Given the description of an element on the screen output the (x, y) to click on. 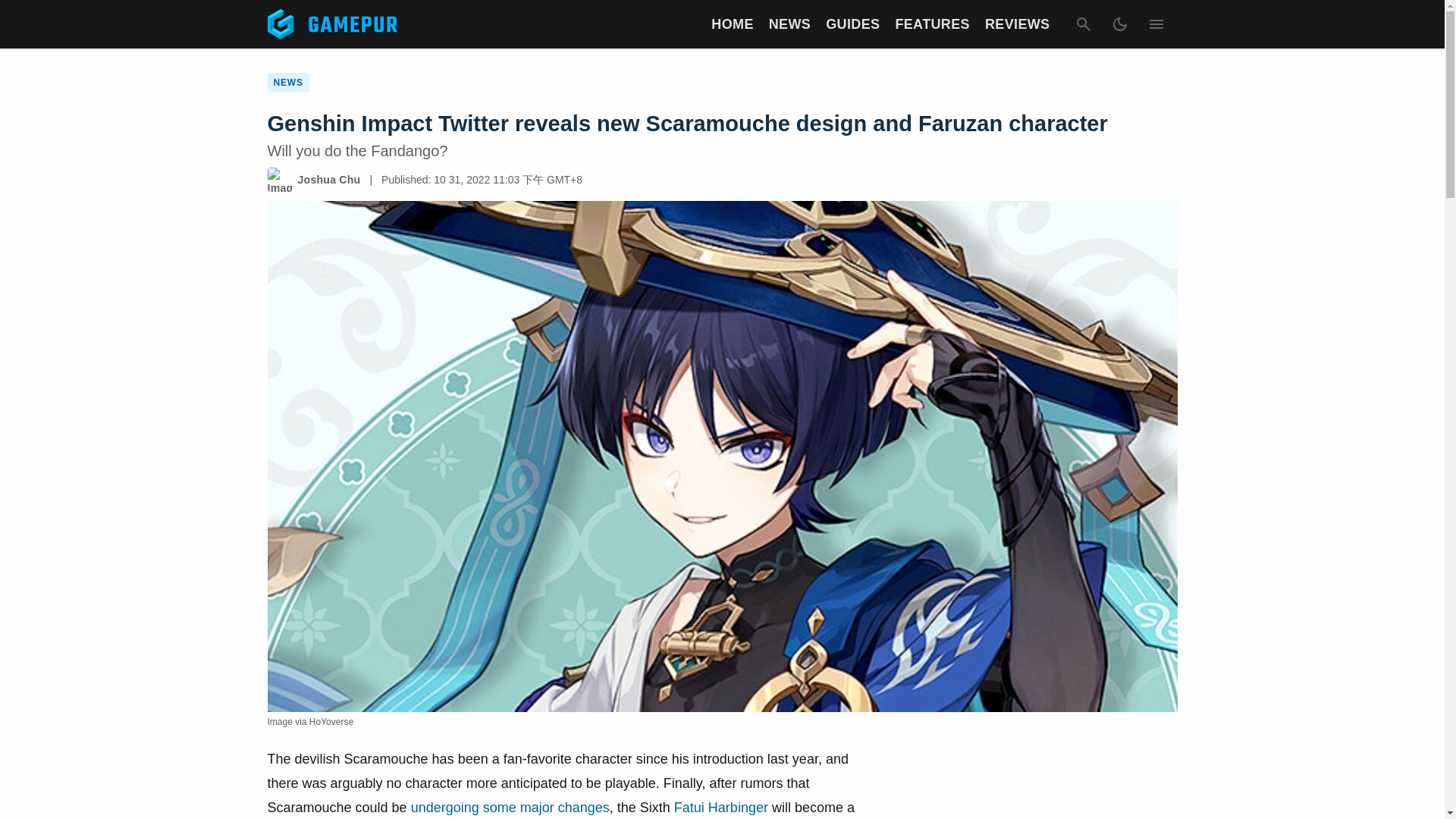
NEWS (789, 23)
REVIEWS (1017, 23)
GUIDES (852, 23)
Search (1082, 24)
Expand Menu (1155, 24)
Dark Mode (1118, 24)
FEATURES (932, 23)
HOME (731, 23)
